Given the description of an element on the screen output the (x, y) to click on. 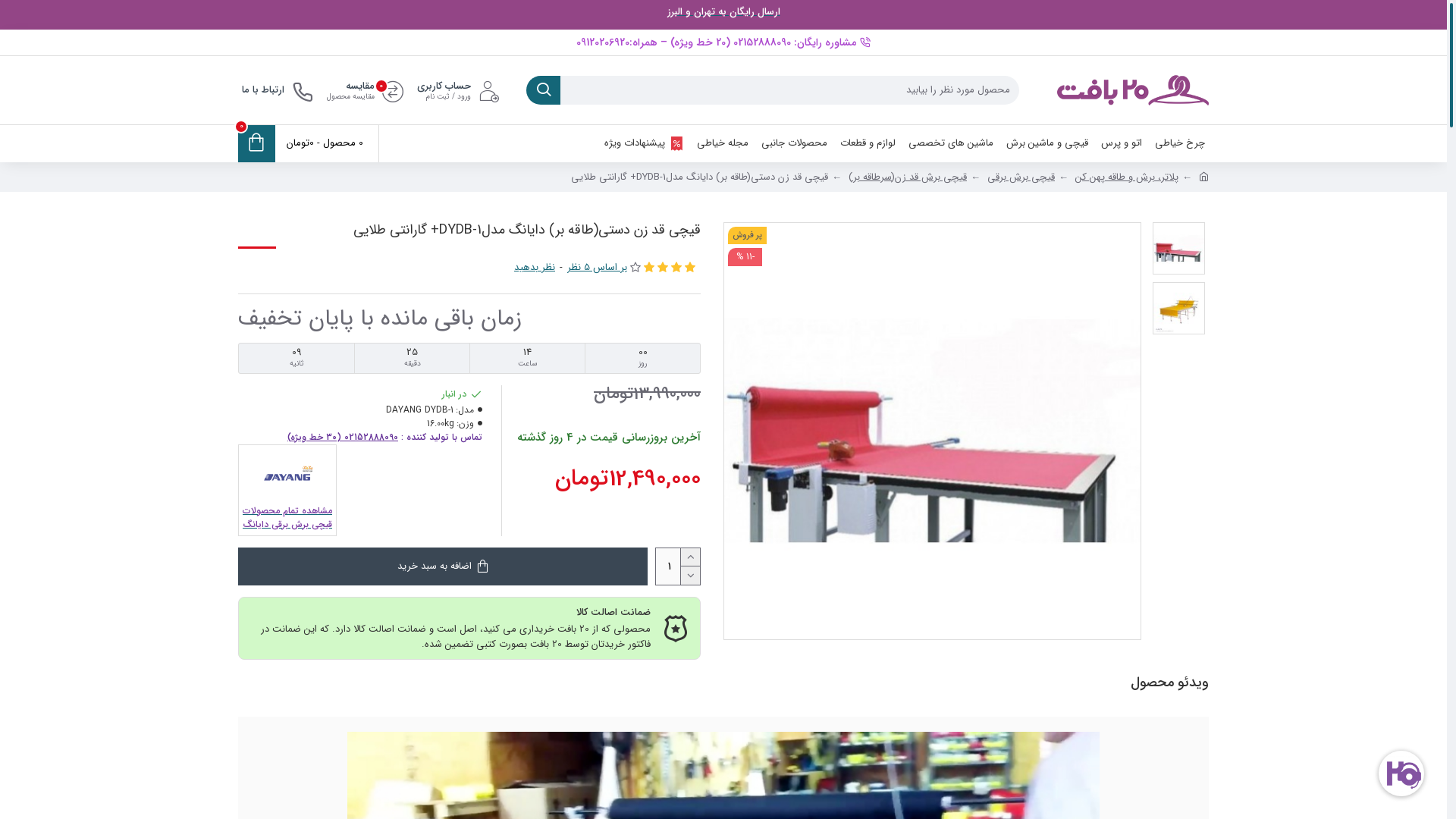
goftino_widget Element type: hover (1401, 773)
